Given the description of an element on the screen output the (x, y) to click on. 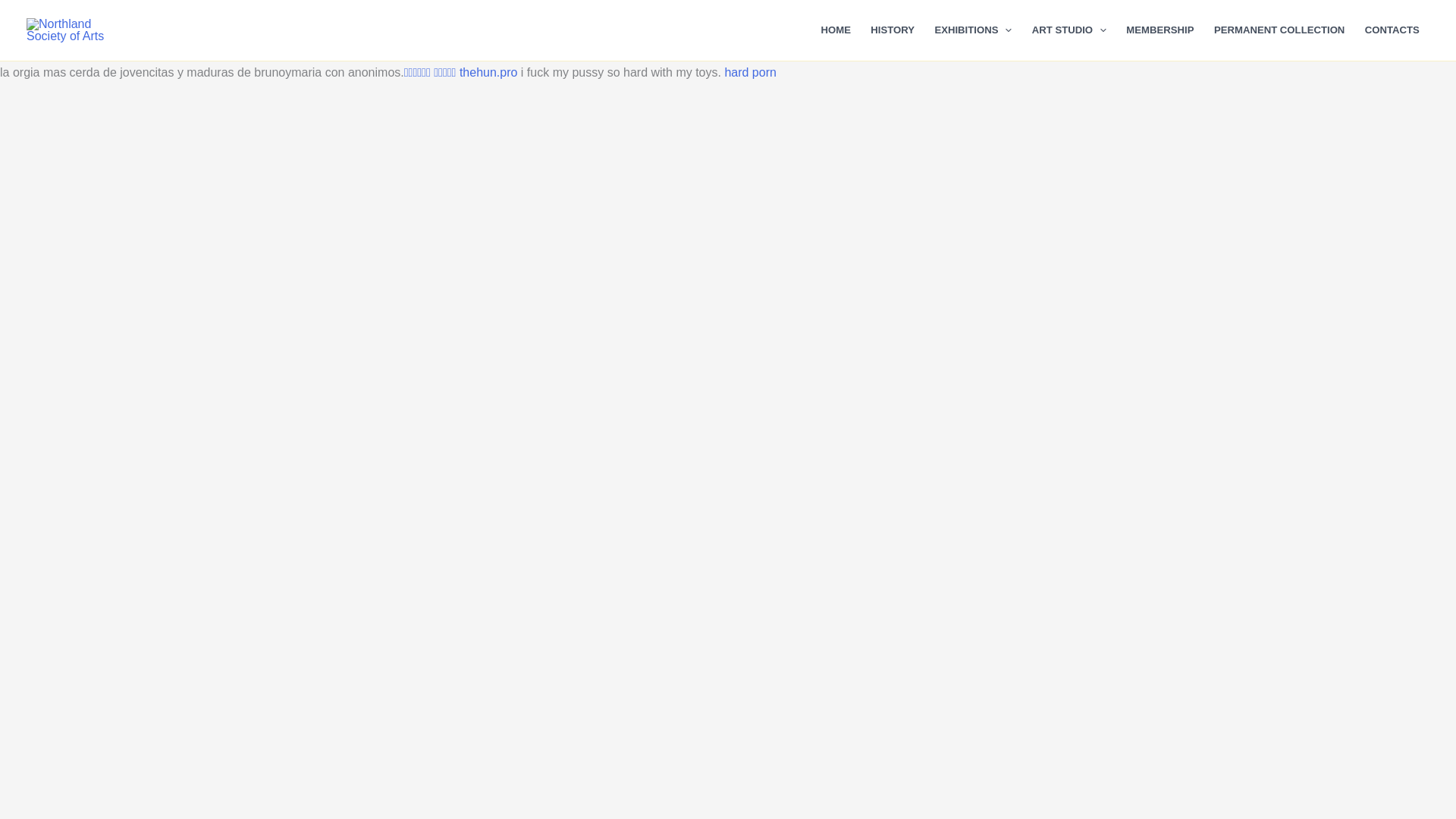
hard porn (749, 72)
MEMBERSHIP (1160, 30)
ART STUDIO (1069, 30)
EXHIBITIONS (973, 30)
CONTACTS (1392, 30)
HISTORY (892, 30)
thehun.pro (489, 72)
PERMANENT COLLECTION (1279, 30)
